Given the description of an element on the screen output the (x, y) to click on. 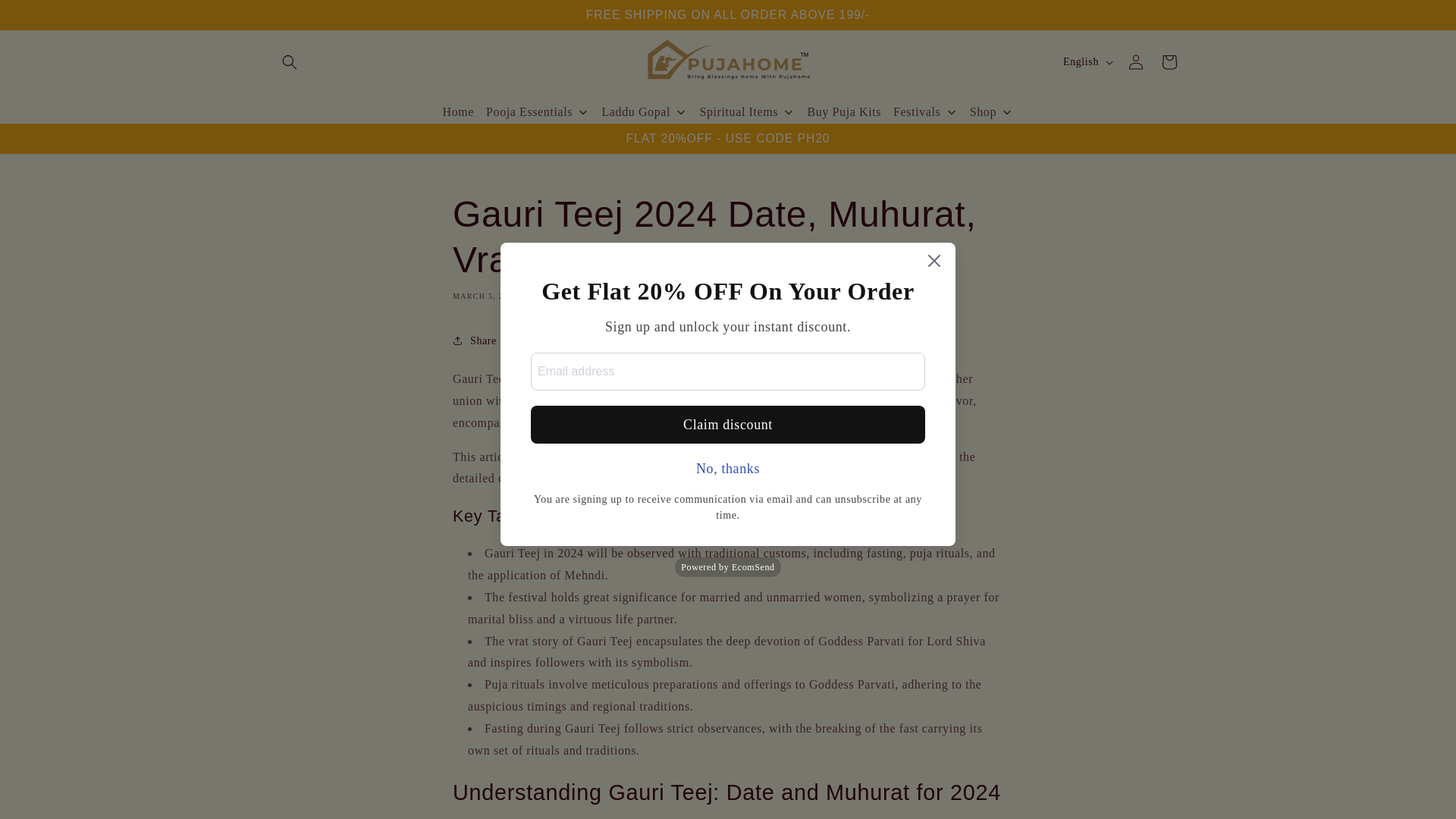
Laddu Gopal (644, 112)
Home (458, 112)
Skip to content (46, 18)
Pooja Essentials (537, 112)
